Given the description of an element on the screen output the (x, y) to click on. 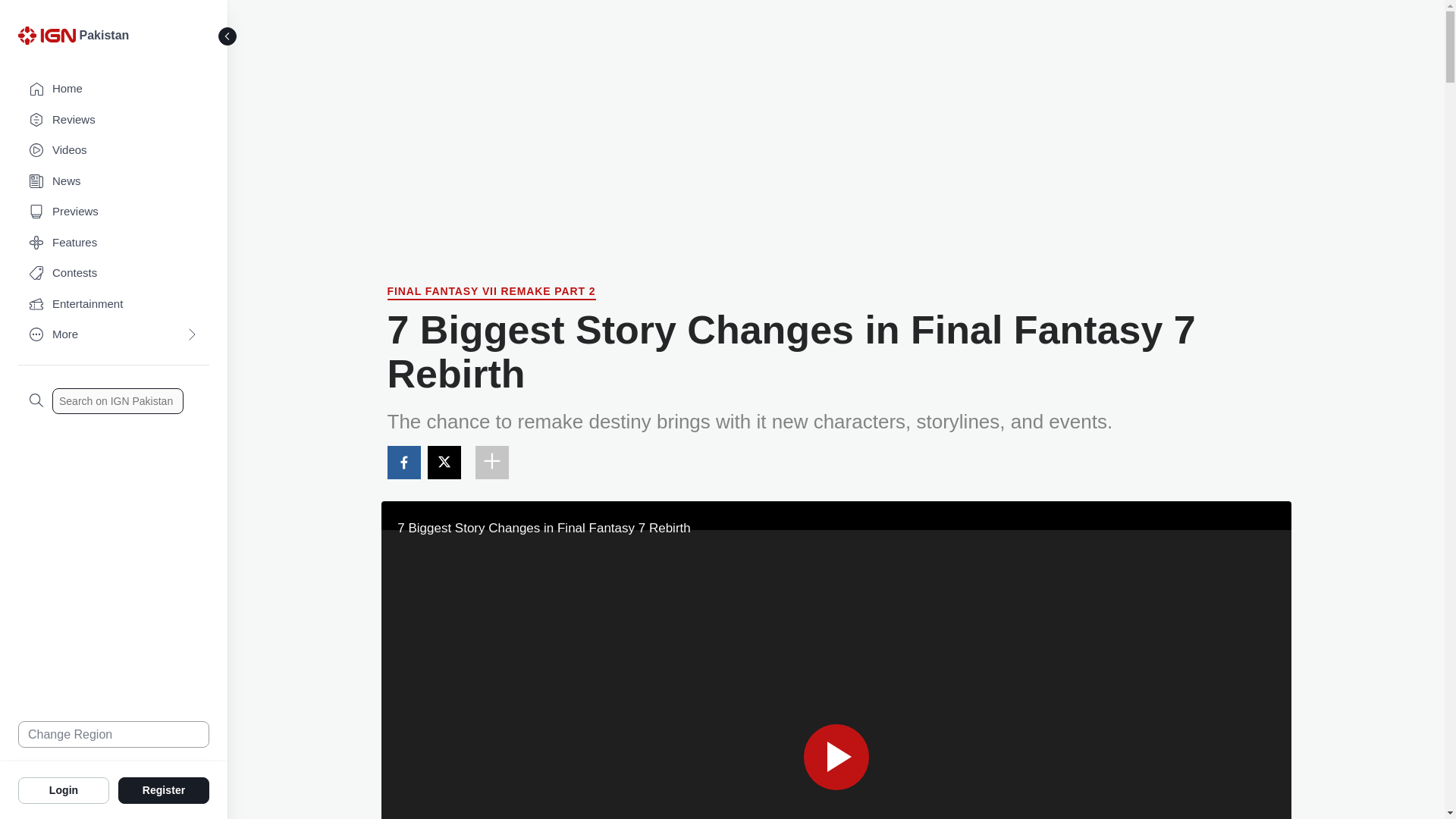
Final Fantasy VII Remake Part 2 (491, 292)
Home (113, 89)
Previews (113, 211)
IGN Logo (46, 34)
Features (113, 242)
Entertainment (113, 304)
Register (163, 789)
FINAL FANTASY VII REMAKE PART 2 (491, 292)
Toggle Sidebar (226, 36)
IGN Logo (48, 39)
Reviews (113, 119)
Login (63, 789)
Videos (113, 150)
News (113, 181)
Contests (113, 273)
